Given the description of an element on the screen output the (x, y) to click on. 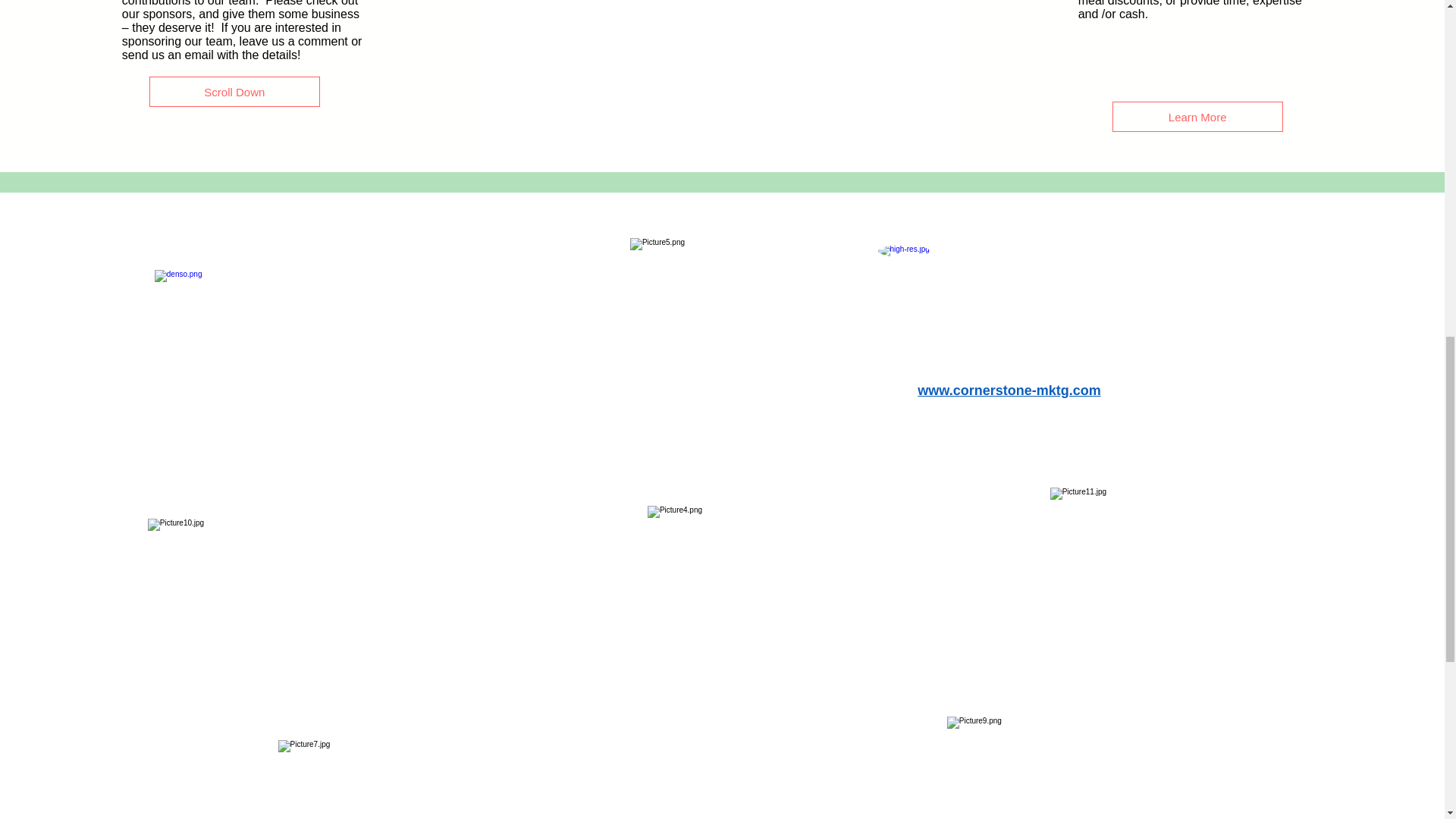
Learn More (1197, 116)
www.cornerstone-mktg.com (1008, 390)
